Given the description of an element on the screen output the (x, y) to click on. 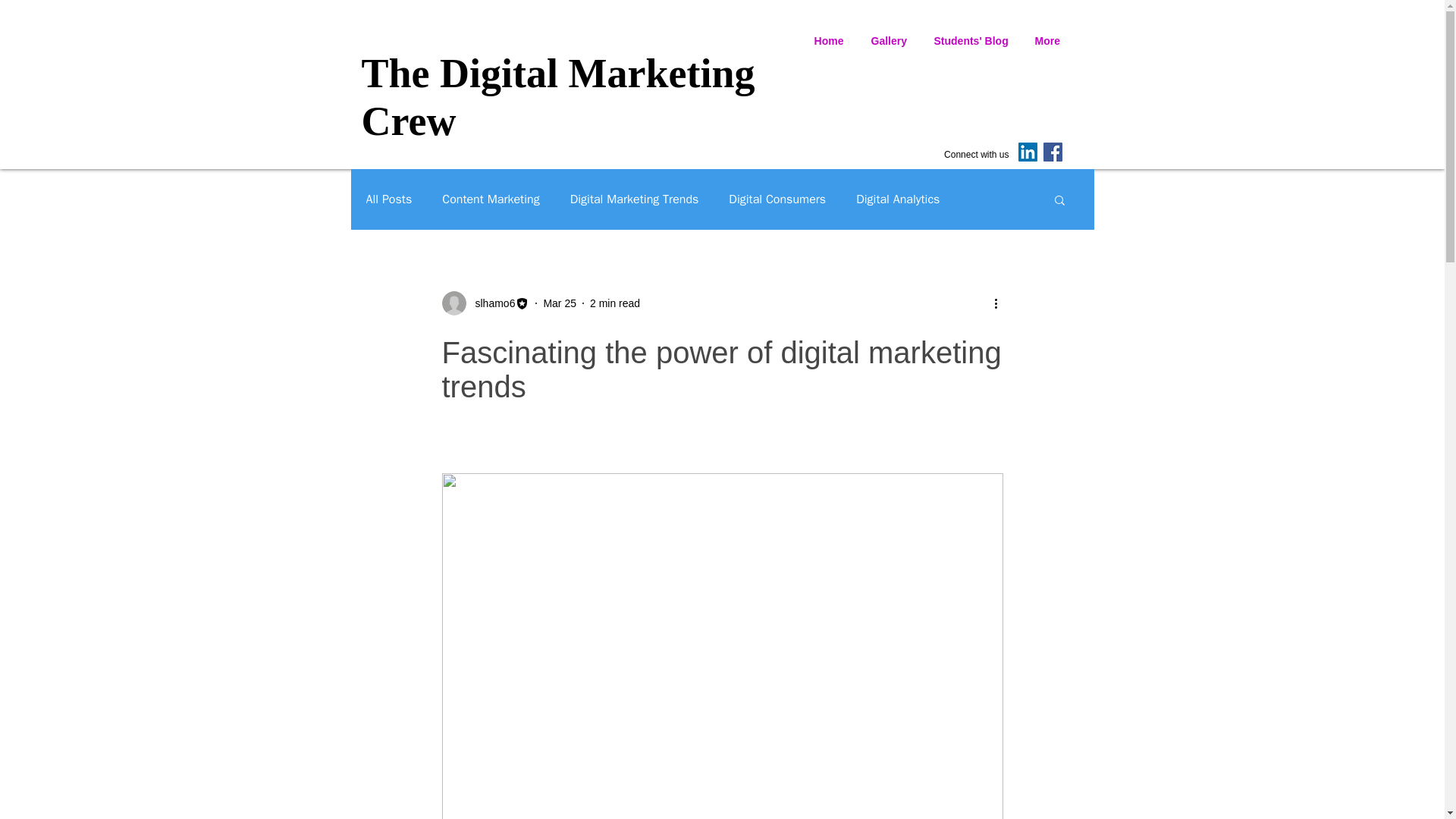
Students' Blog (971, 33)
slhamo6 (490, 303)
The Digital Marketing Crew (557, 97)
Digital Analytics (897, 198)
Digital Consumers (777, 198)
Digital Marketing Trends (634, 198)
Gallery (888, 33)
Home (828, 33)
Content Marketing (490, 198)
All Posts (388, 198)
slhamo6 (485, 303)
2 min read (614, 303)
Mar 25 (559, 303)
